Given the description of an element on the screen output the (x, y) to click on. 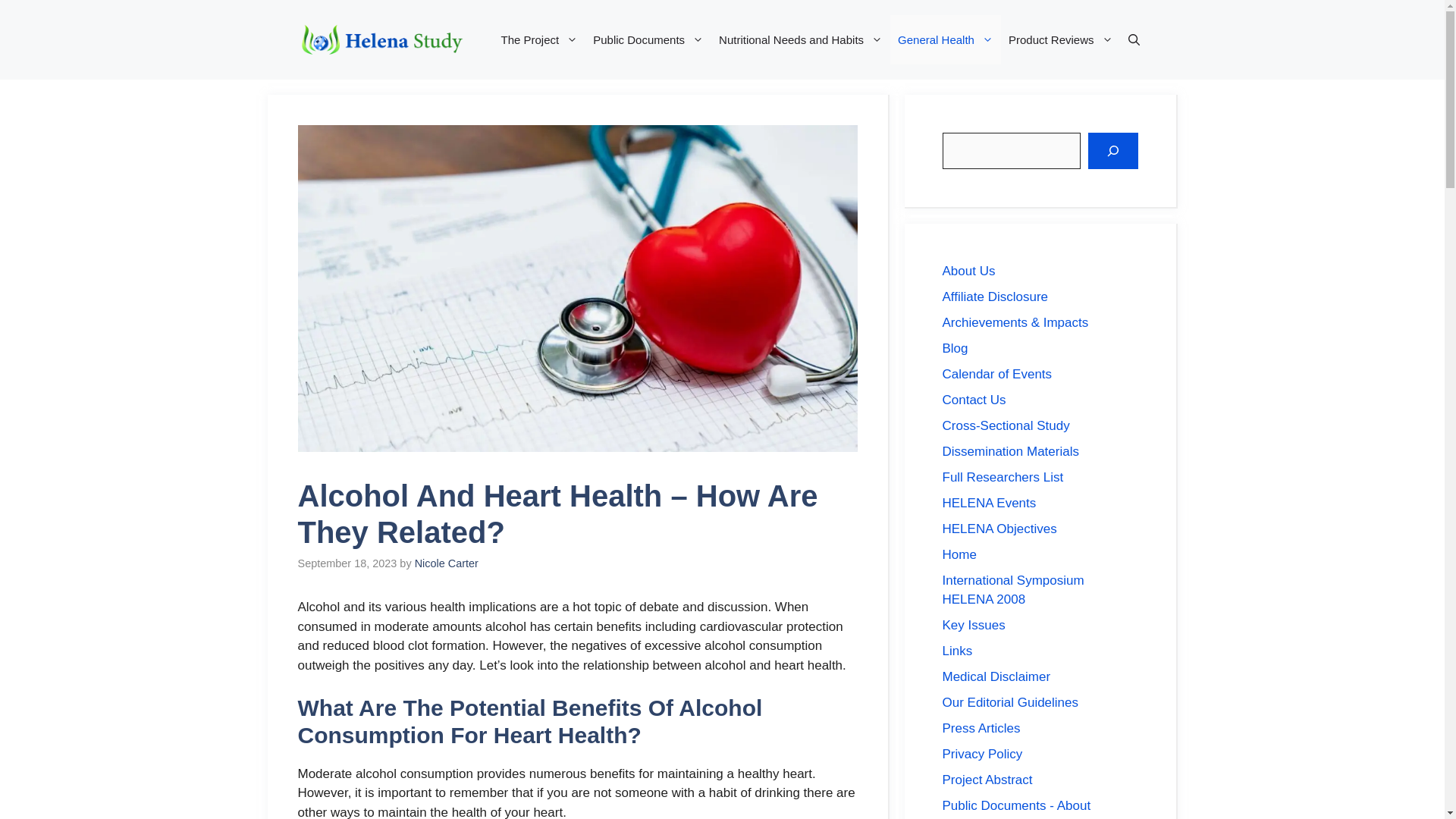
Nutritional Needs and Habits (800, 39)
General Health (945, 39)
Public Documents (648, 39)
Product Reviews (1061, 39)
The Project (539, 39)
View all posts by Nicole Carter (446, 563)
